Given the description of an element on the screen output the (x, y) to click on. 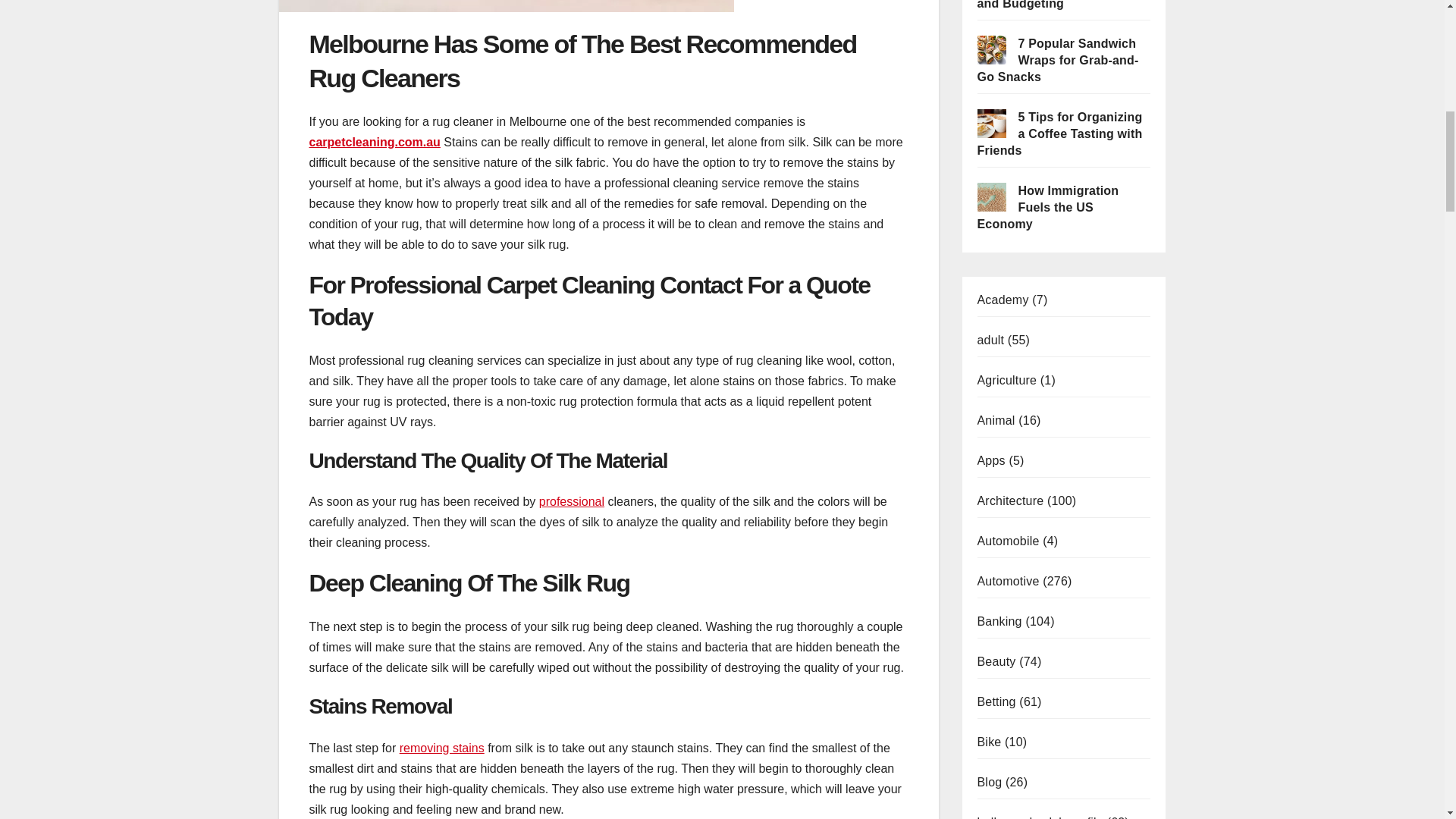
professional (571, 501)
carpetcleaning.com.au (374, 141)
removing stains (441, 748)
